Given the description of an element on the screen output the (x, y) to click on. 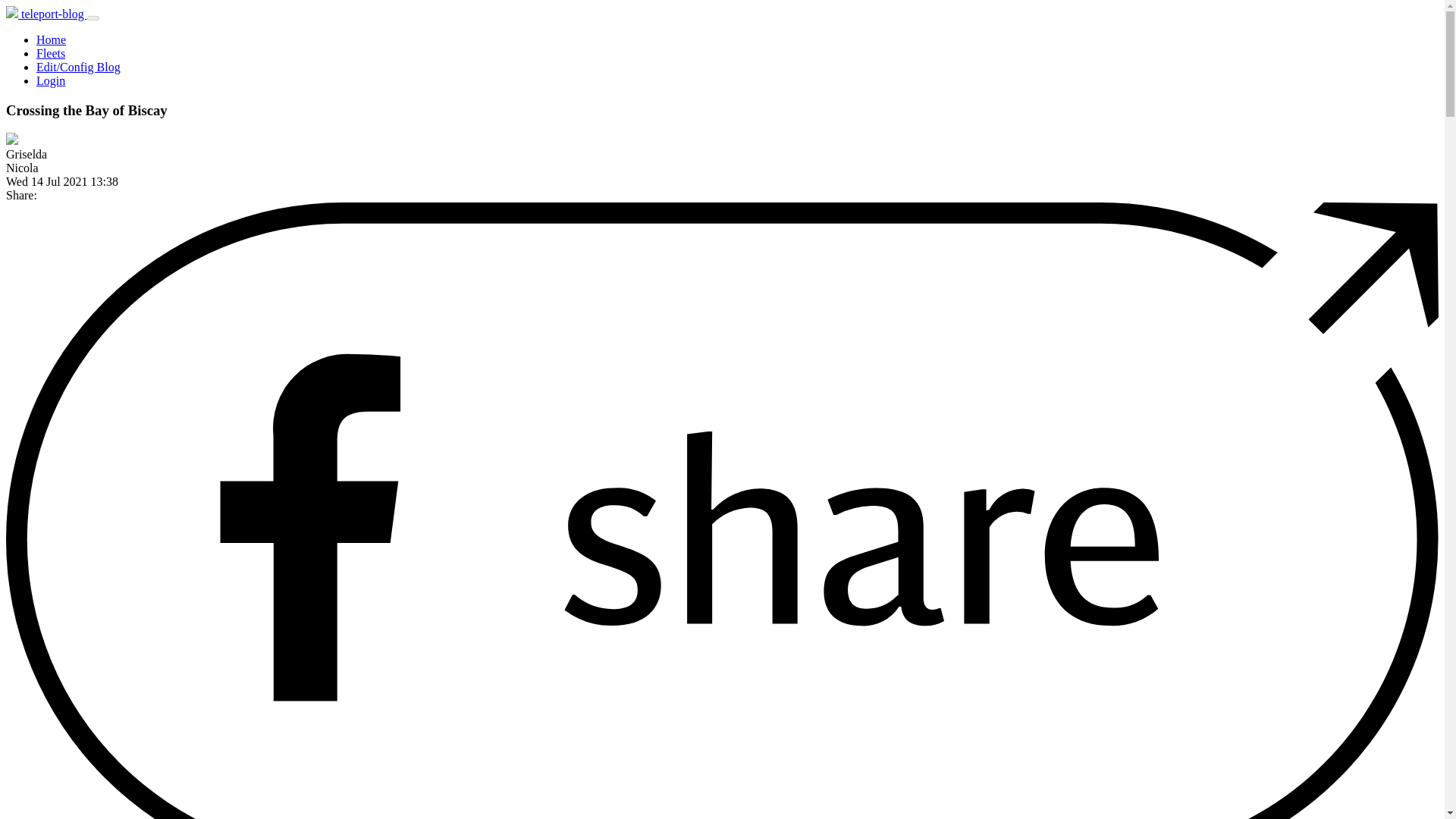
teleport-blog (46, 13)
Login (50, 80)
Fleets (50, 52)
Home (50, 39)
